Given the description of an element on the screen output the (x, y) to click on. 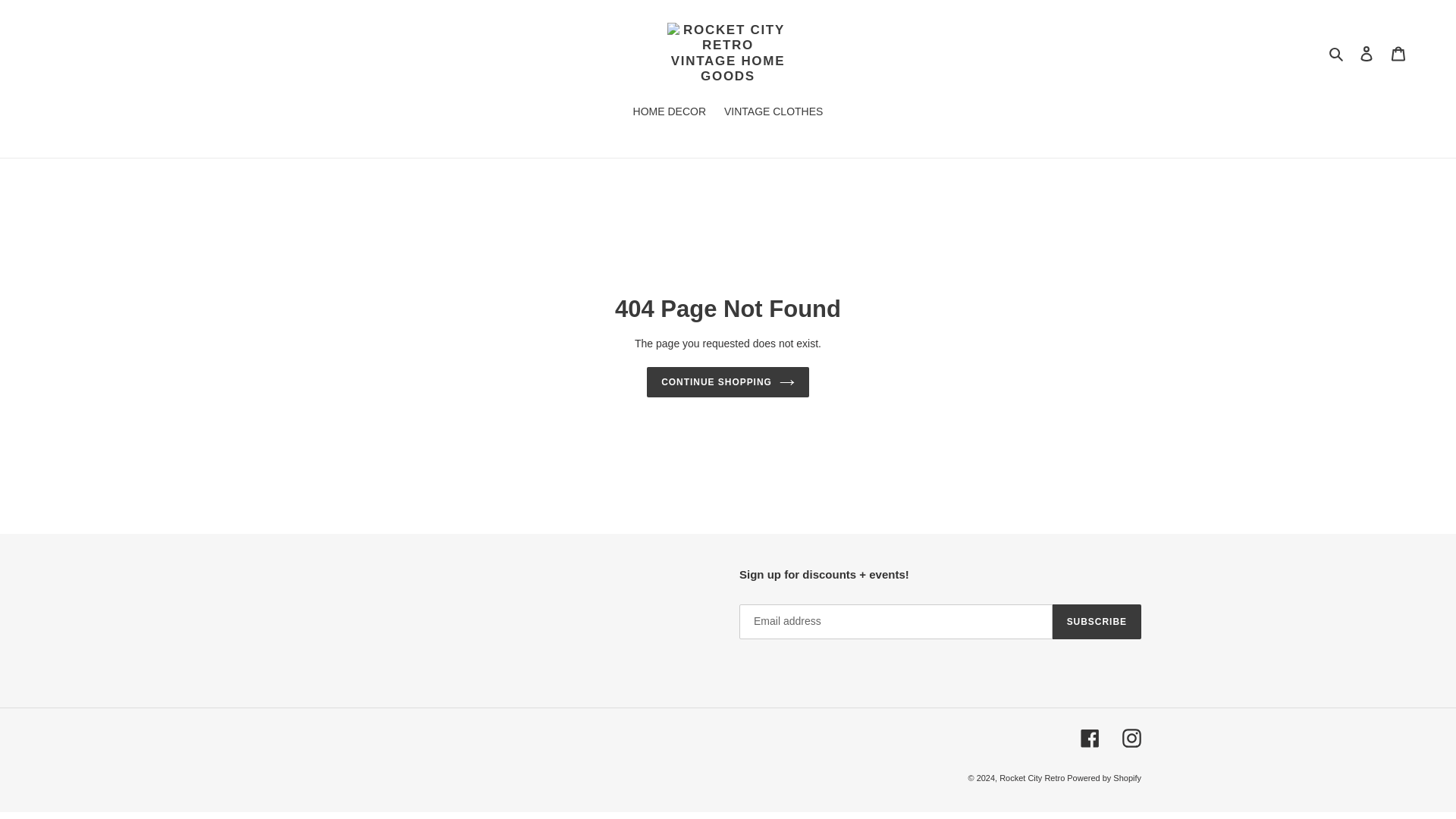
Log in (1366, 52)
Facebook (1089, 737)
Instagram (1131, 737)
Cart (1397, 52)
Search (1337, 53)
VINTAGE CLOTHES (772, 113)
CONTINUE SHOPPING (727, 381)
Rocket City Retro (1032, 777)
Powered by Shopify (1104, 777)
HOME DECOR (669, 113)
